Given the description of an element on the screen output the (x, y) to click on. 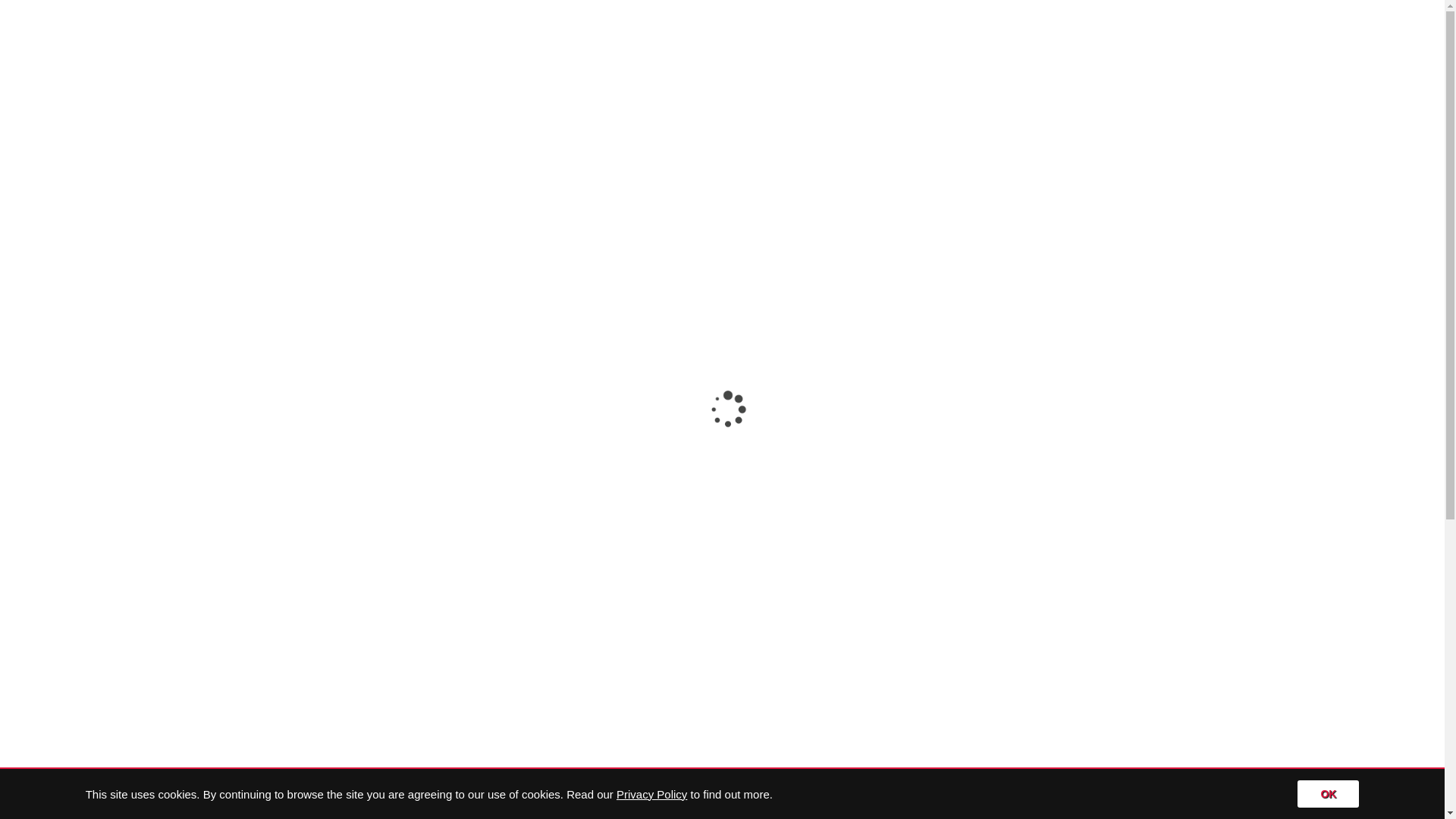
Search (1288, 20)
Encyclopedias (970, 20)
energy levels (440, 398)
photoionization (491, 374)
emission lines (203, 398)
Orion Nebula (484, 447)
Home (831, 20)
HI region (215, 471)
About (887, 20)
